Given the description of an element on the screen output the (x, y) to click on. 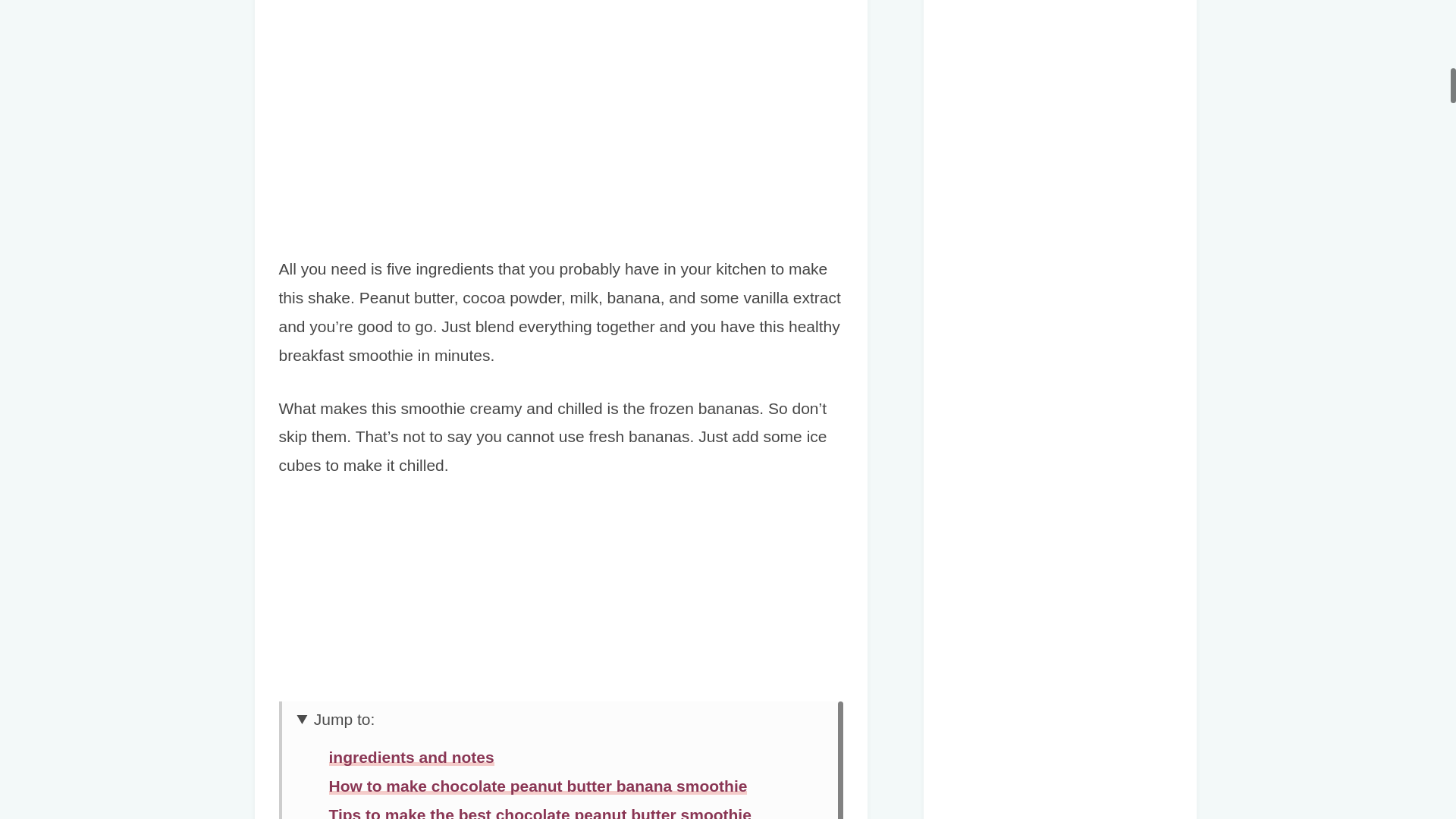
Tips to make the best chocolate peanut butter smoothie (540, 812)
How to make chocolate peanut butter banana smoothie (538, 785)
ingredients and notes (412, 756)
